Given the description of an element on the screen output the (x, y) to click on. 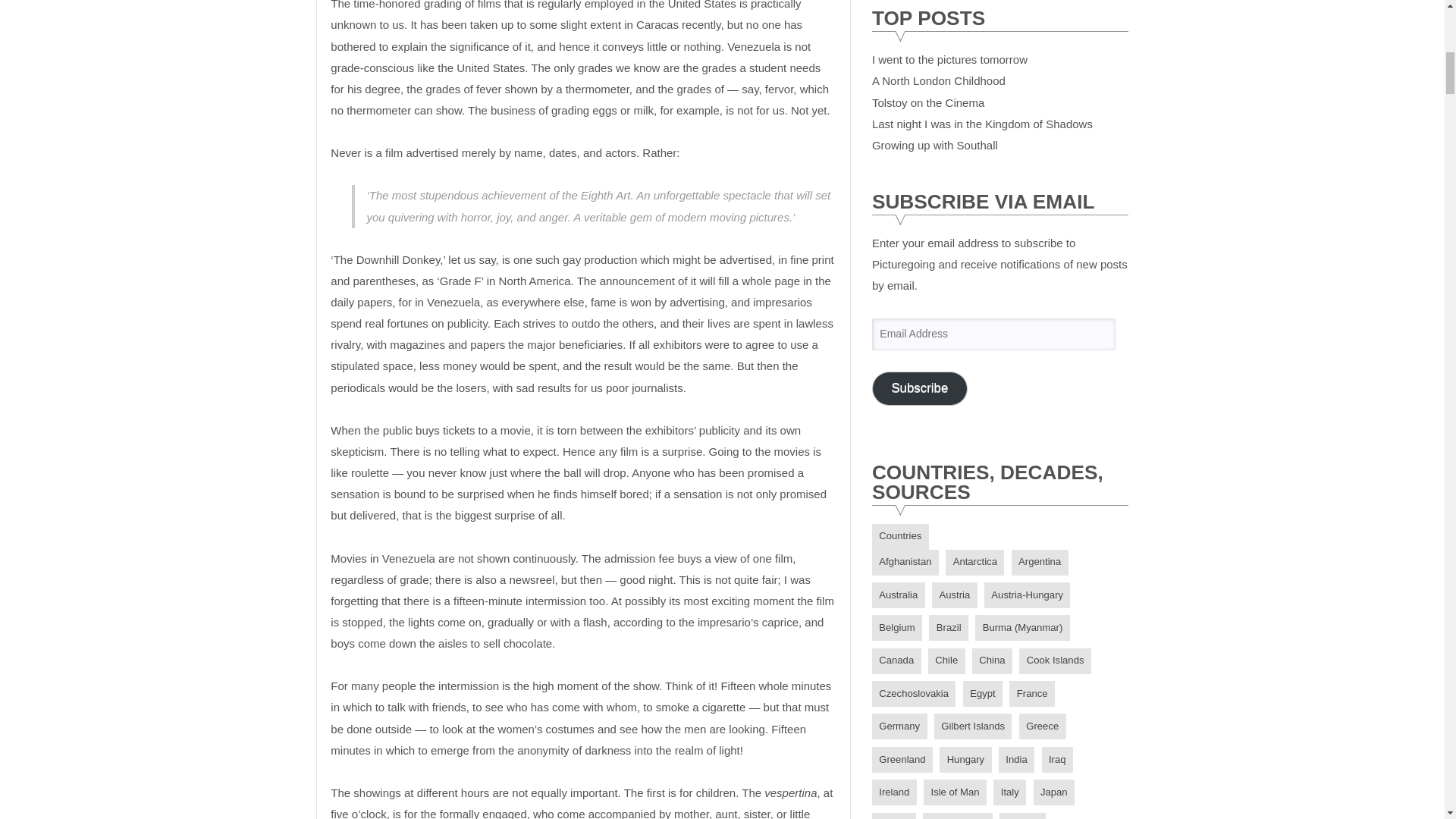
A North London Childhood (939, 80)
Tolstoy on the Cinema (928, 102)
Afghanistan (905, 562)
Last night I was in the Kingdom of Shadows (982, 123)
Antarctica (974, 562)
Subscribe (920, 388)
Countries (900, 536)
I went to the pictures tomorrow (949, 59)
Growing up with Southall (934, 144)
